Given the description of an element on the screen output the (x, y) to click on. 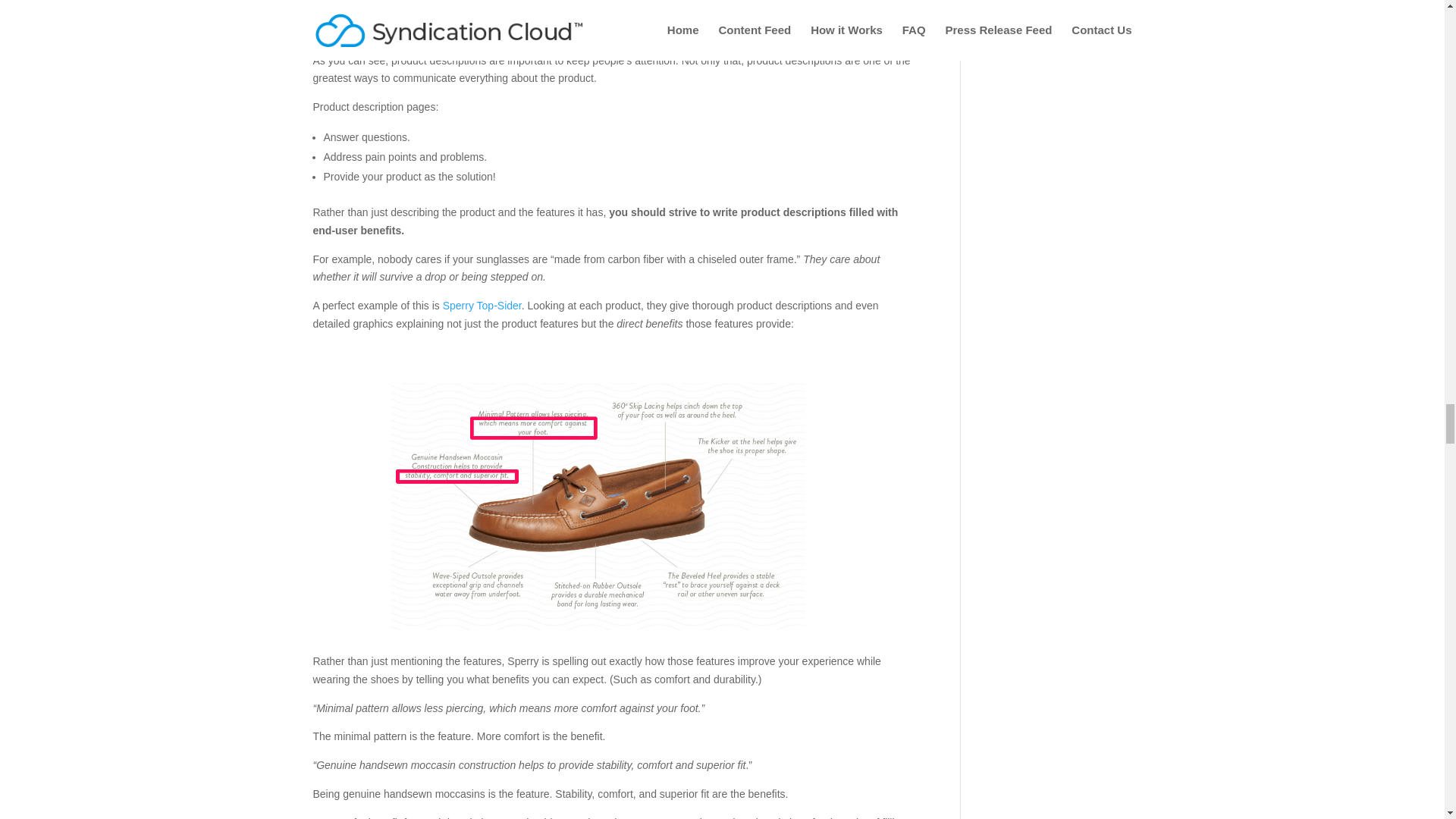
Sperry Top-Sider (481, 305)
